Given the description of an element on the screen output the (x, y) to click on. 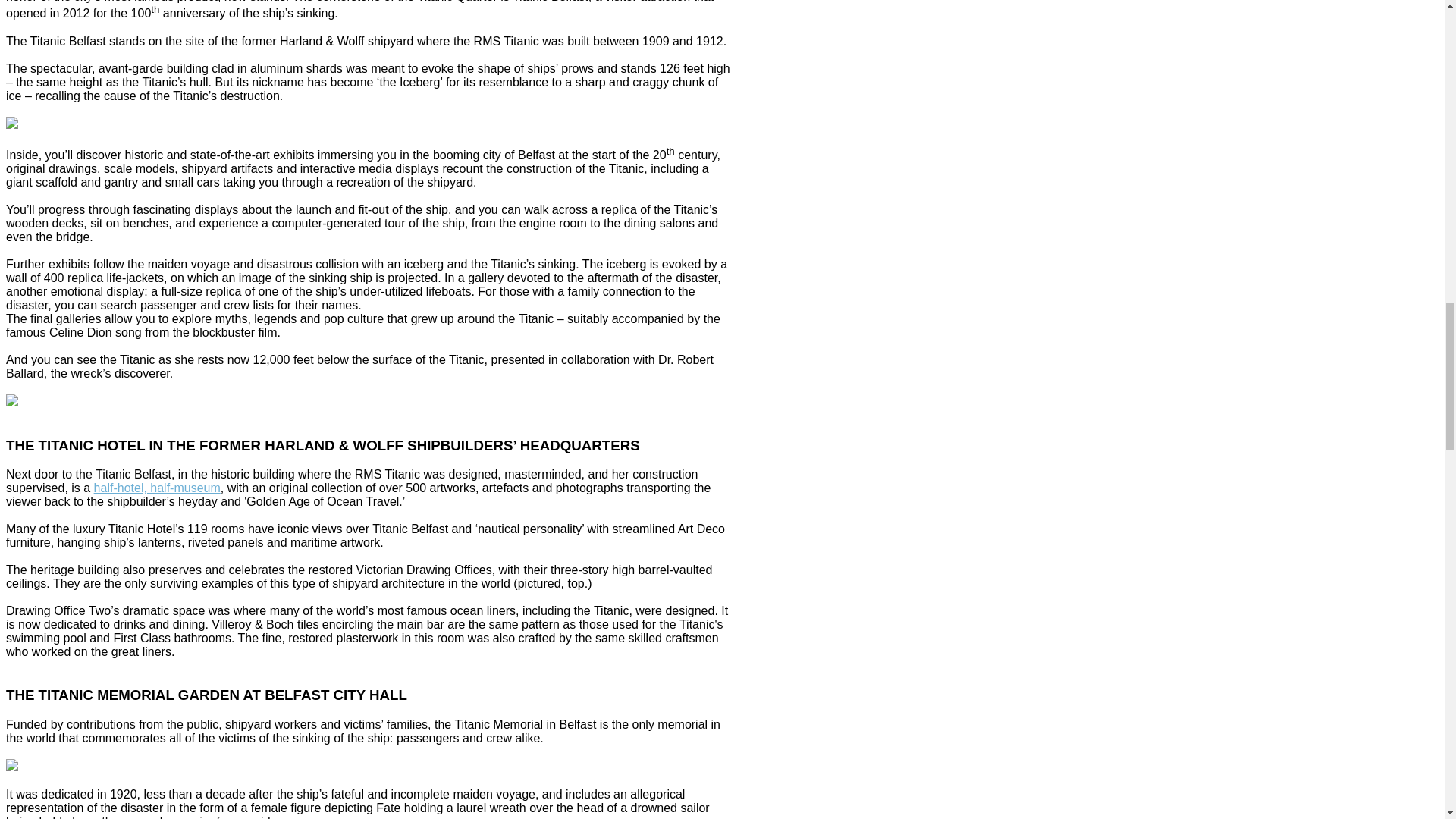
half-hotel, half-museum (157, 487)
